Given the description of an element on the screen output the (x, y) to click on. 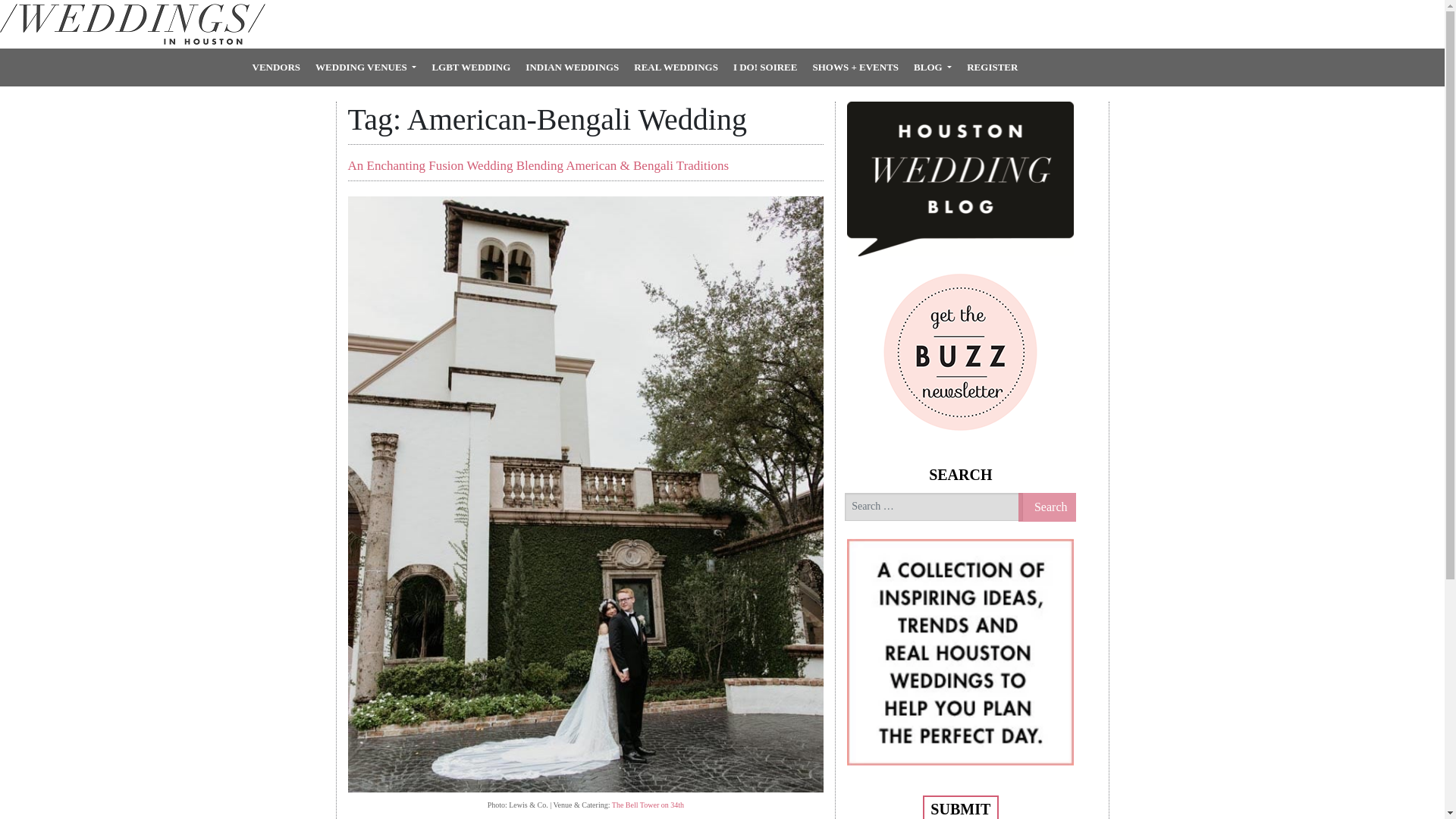
Indian Weddings (572, 67)
I Do! Soiree (765, 67)
WEDDING VENUES (365, 67)
Wedding Venues (365, 67)
VENDORS (275, 67)
The Bell Tower on 34th (647, 804)
I DO! SOIREE (765, 67)
REAL WEDDINGS (675, 67)
BLOG (932, 67)
Real Weddings (675, 67)
LGBT Wedding (470, 67)
LGBT WEDDING (470, 67)
Search (1047, 507)
Vendors (275, 67)
REGISTER (992, 67)
